Given the description of an element on the screen output the (x, y) to click on. 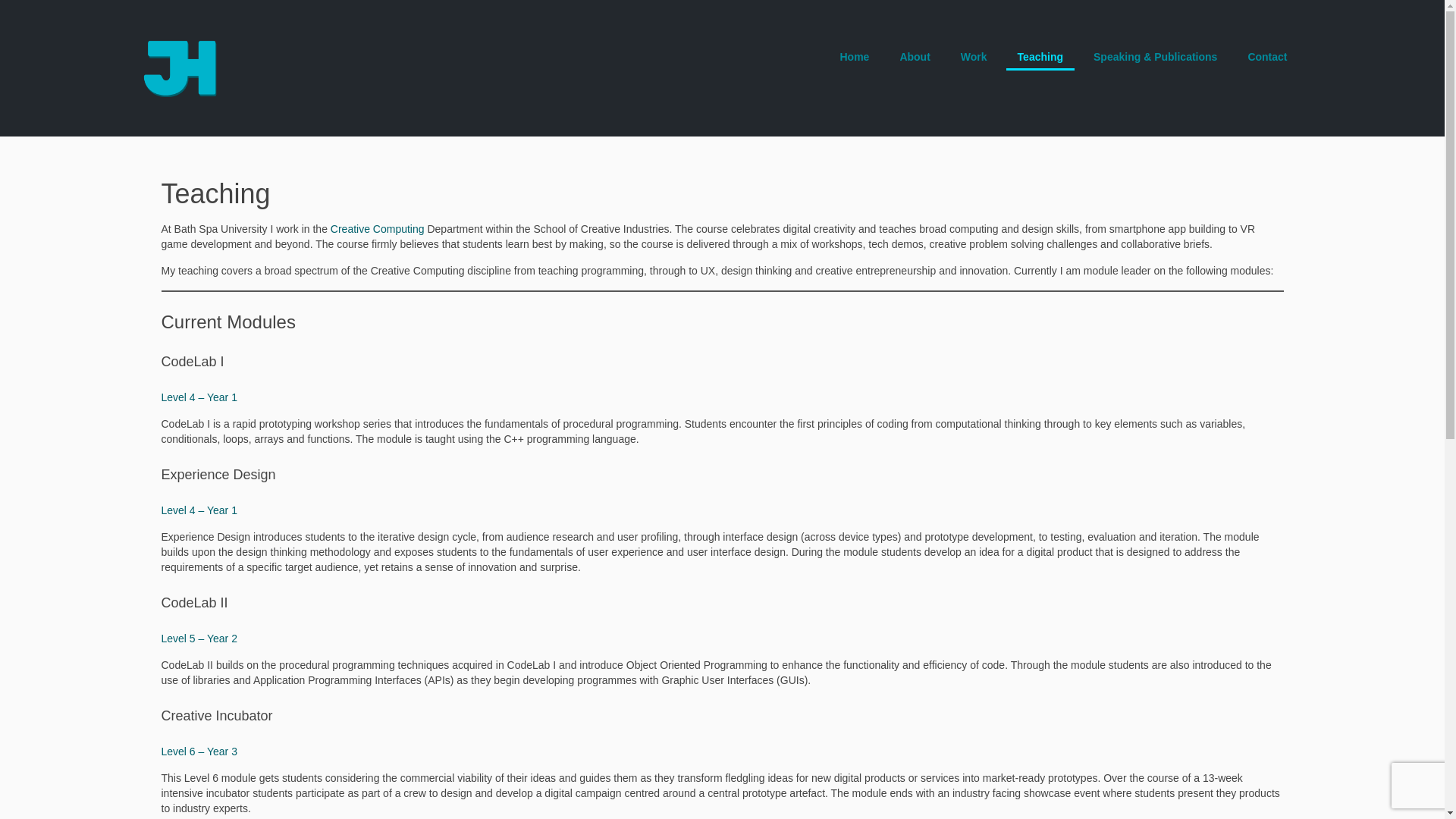
Work (973, 56)
Contact (1267, 56)
Home (854, 56)
Creative Computing (377, 228)
Teaching (1040, 56)
About (914, 56)
